Given the description of an element on the screen output the (x, y) to click on. 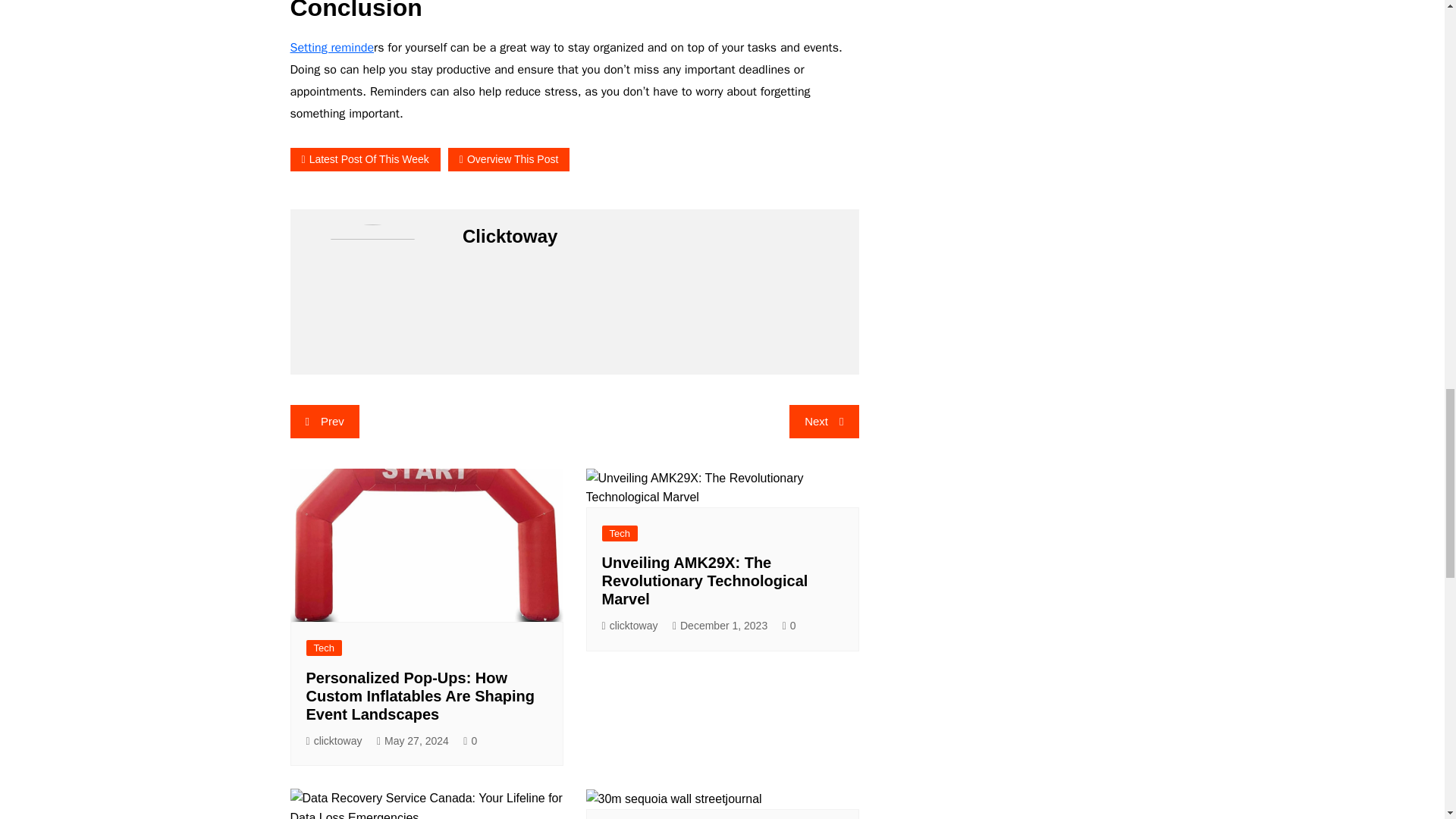
Tech (323, 647)
Prev (323, 421)
Next (824, 421)
Overview This Post (508, 159)
Latest Post Of This Week (364, 159)
May 27, 2024 (412, 741)
clicktoway (333, 741)
Setting reminde (331, 47)
